Given the description of an element on the screen output the (x, y) to click on. 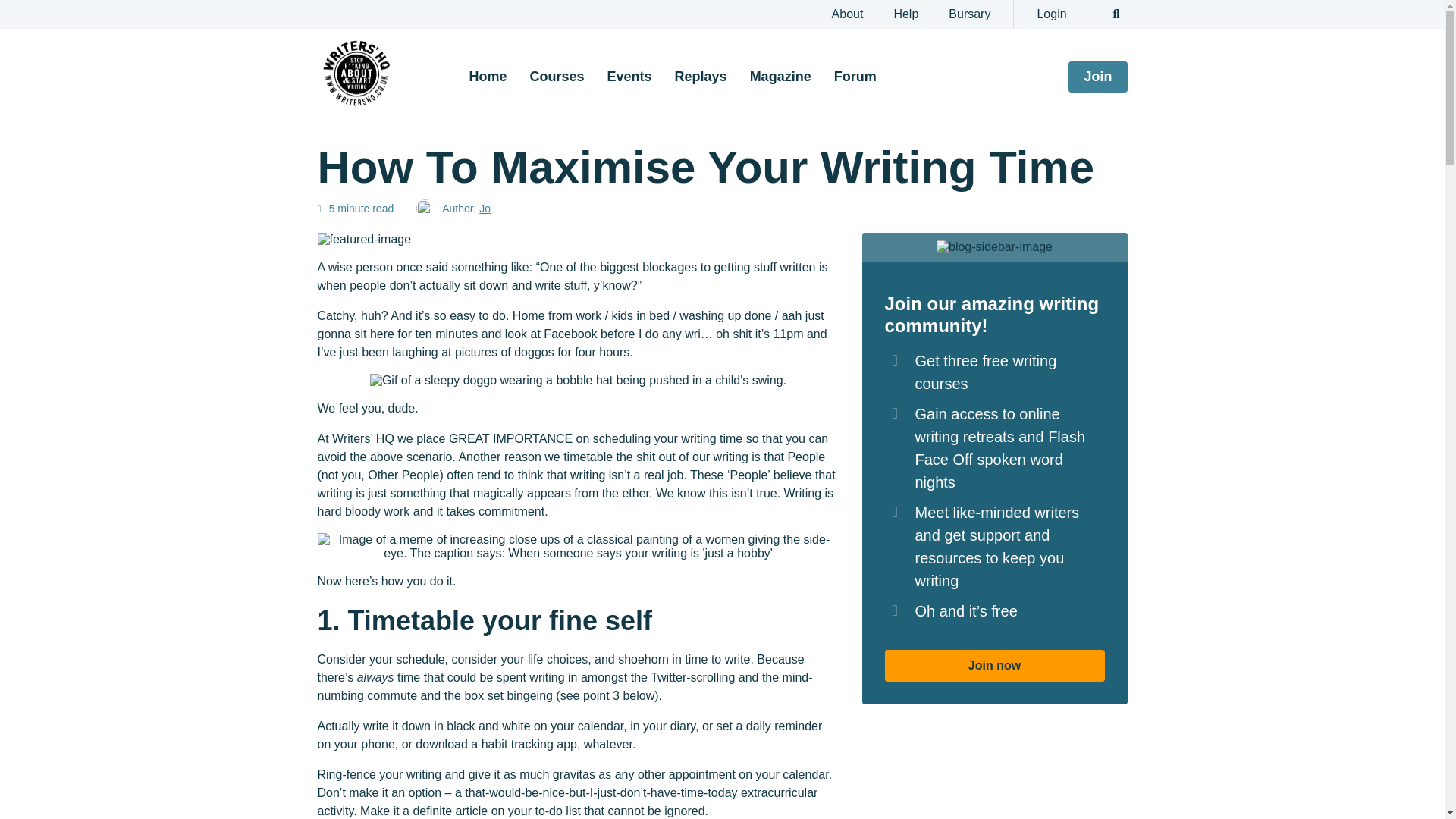
Help (905, 14)
Join (1097, 76)
Home (487, 76)
Magazine (779, 76)
Jo (484, 208)
Bursary (968, 14)
Login (1051, 14)
Forum (855, 76)
Replays (700, 76)
Courses (557, 76)
